Given the description of an element on the screen output the (x, y) to click on. 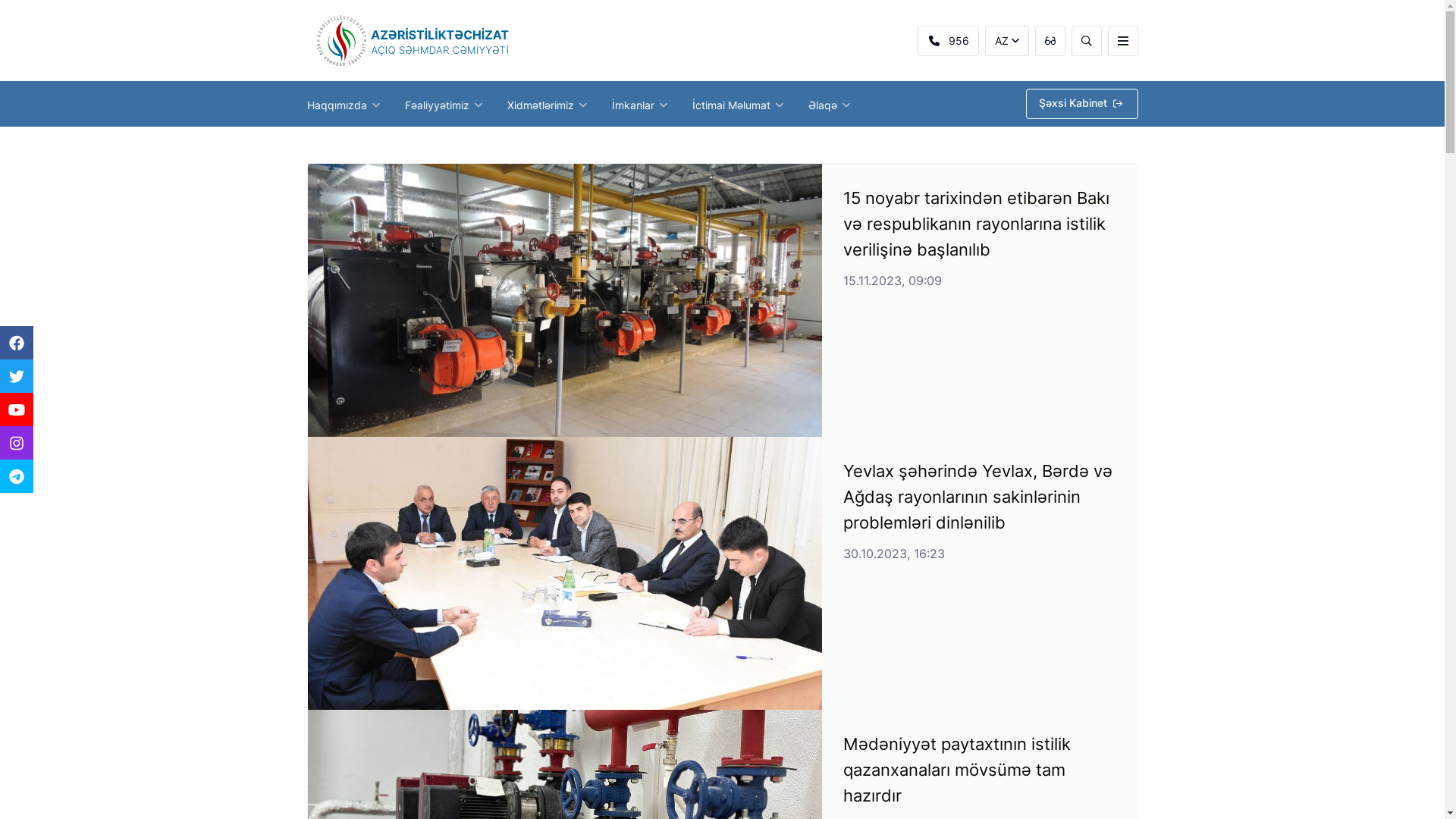
956 Element type: text (948, 40)
AZ Element type: text (1006, 40)
